Given the description of an element on the screen output the (x, y) to click on. 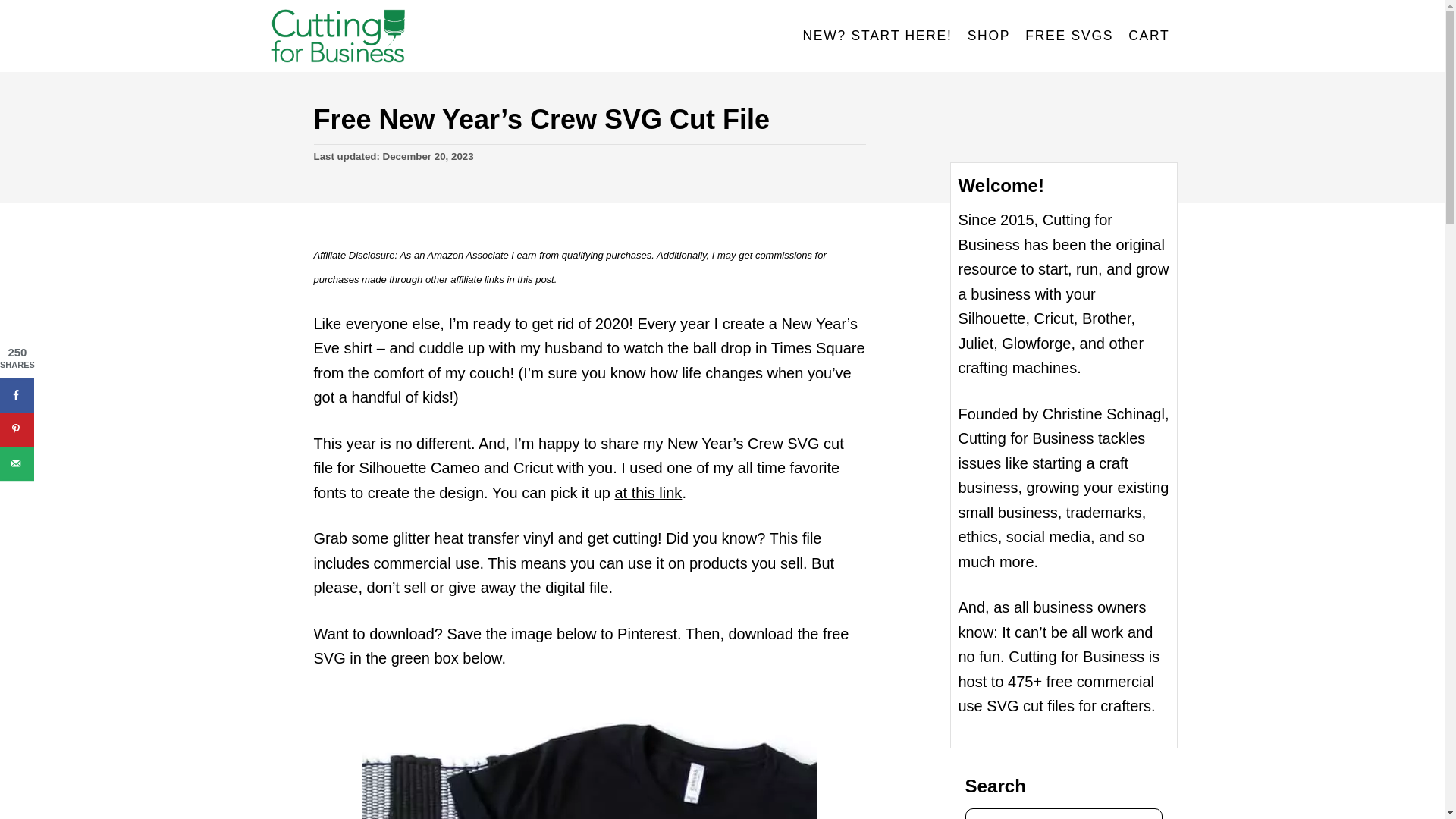
FREE SVGS (1069, 36)
Send over email (16, 463)
Search for: (1062, 813)
Share on Facebook (16, 395)
SHOP (988, 36)
at this link (647, 492)
Save to Pinterest (16, 429)
Cutting for Business (403, 36)
Search (22, 22)
CART (1148, 36)
NEW? START HERE! (876, 36)
